Given the description of an element on the screen output the (x, y) to click on. 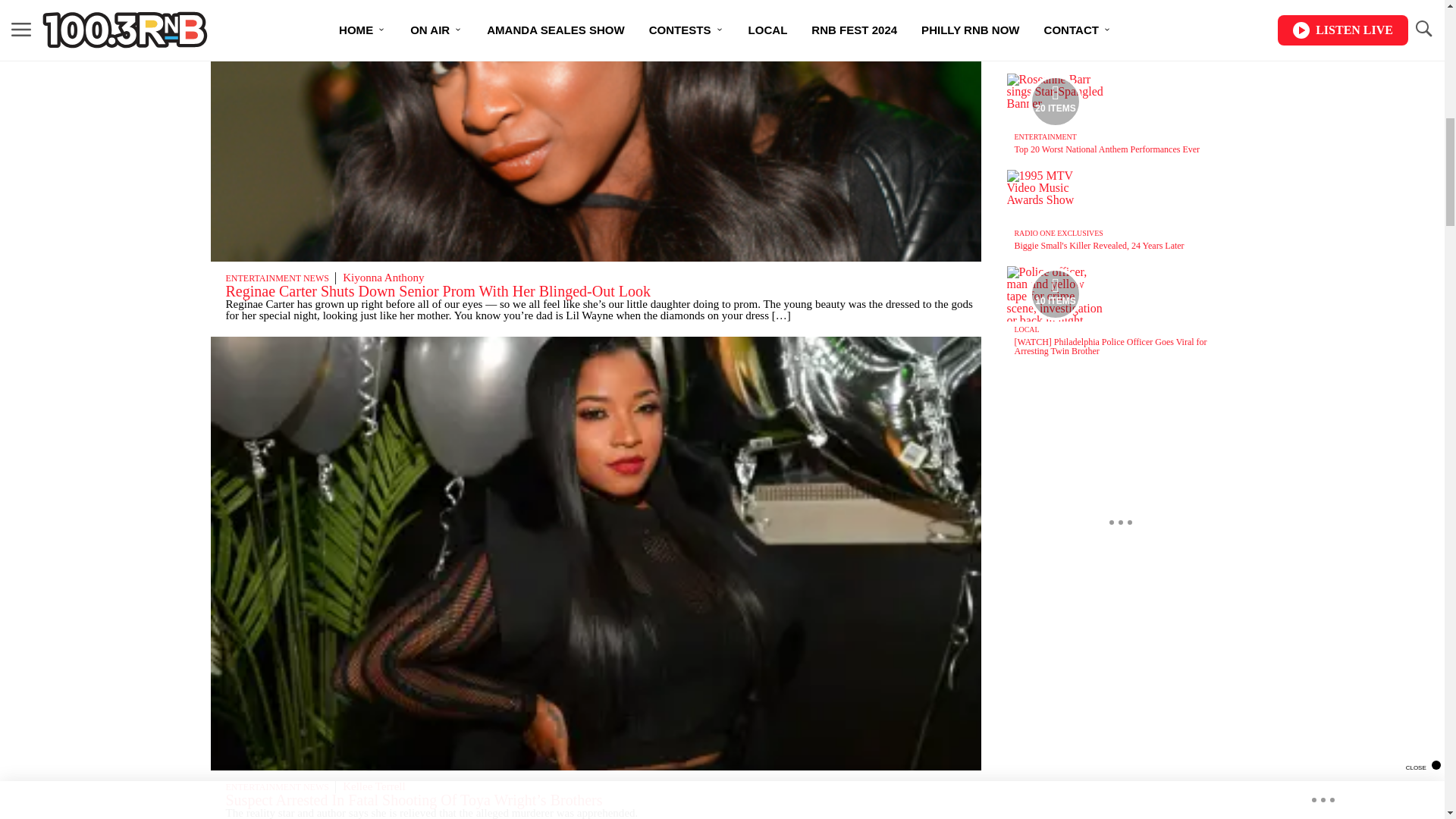
Kiyonna Anthony (382, 277)
Media Playlist (1055, 293)
Media Playlist (1055, 100)
ENTERTAINMENT NEWS (277, 277)
Media Playlist (1055, 11)
